Given the description of an element on the screen output the (x, y) to click on. 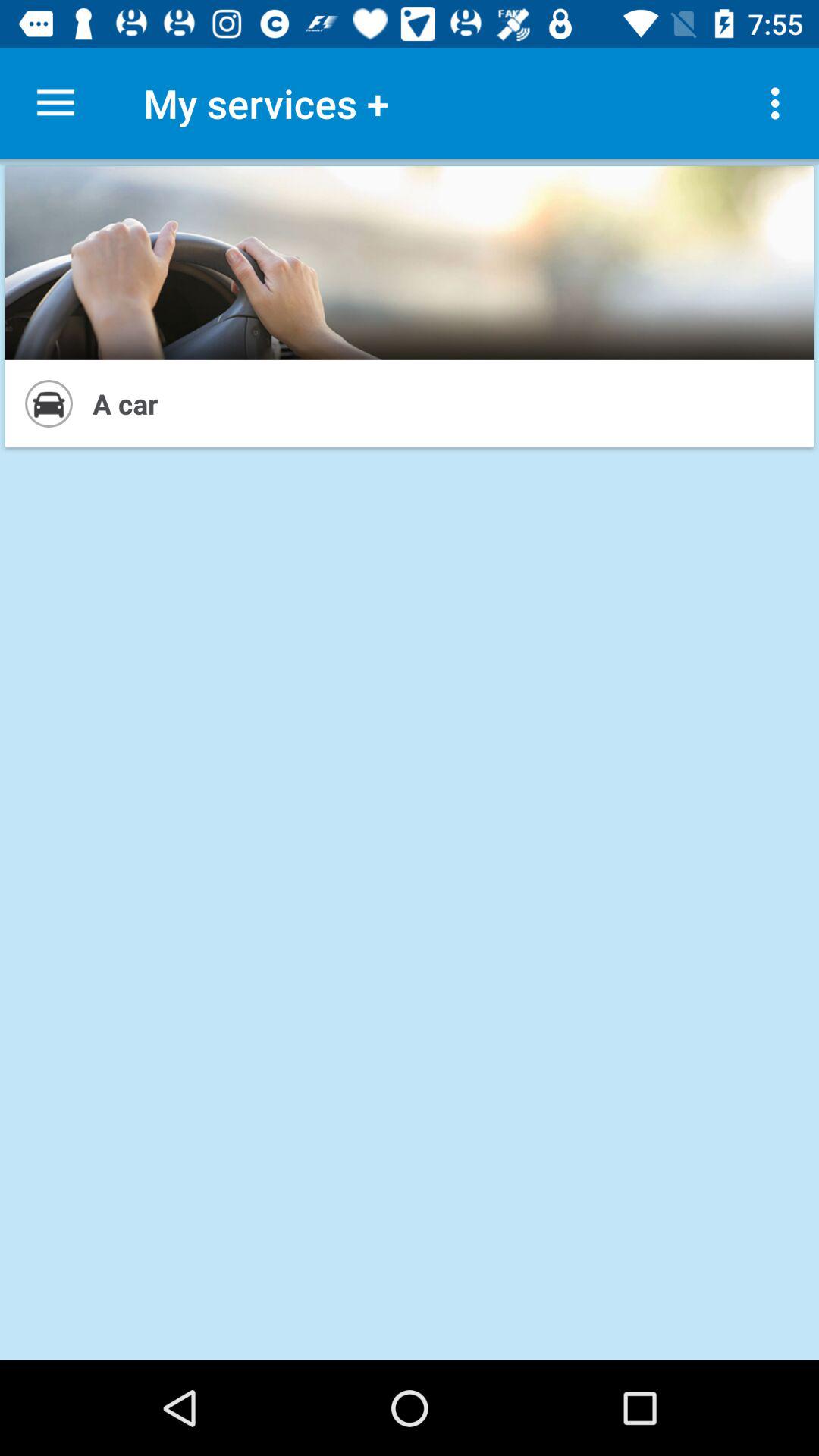
select the icon next to the my services + item (55, 103)
